Given the description of an element on the screen output the (x, y) to click on. 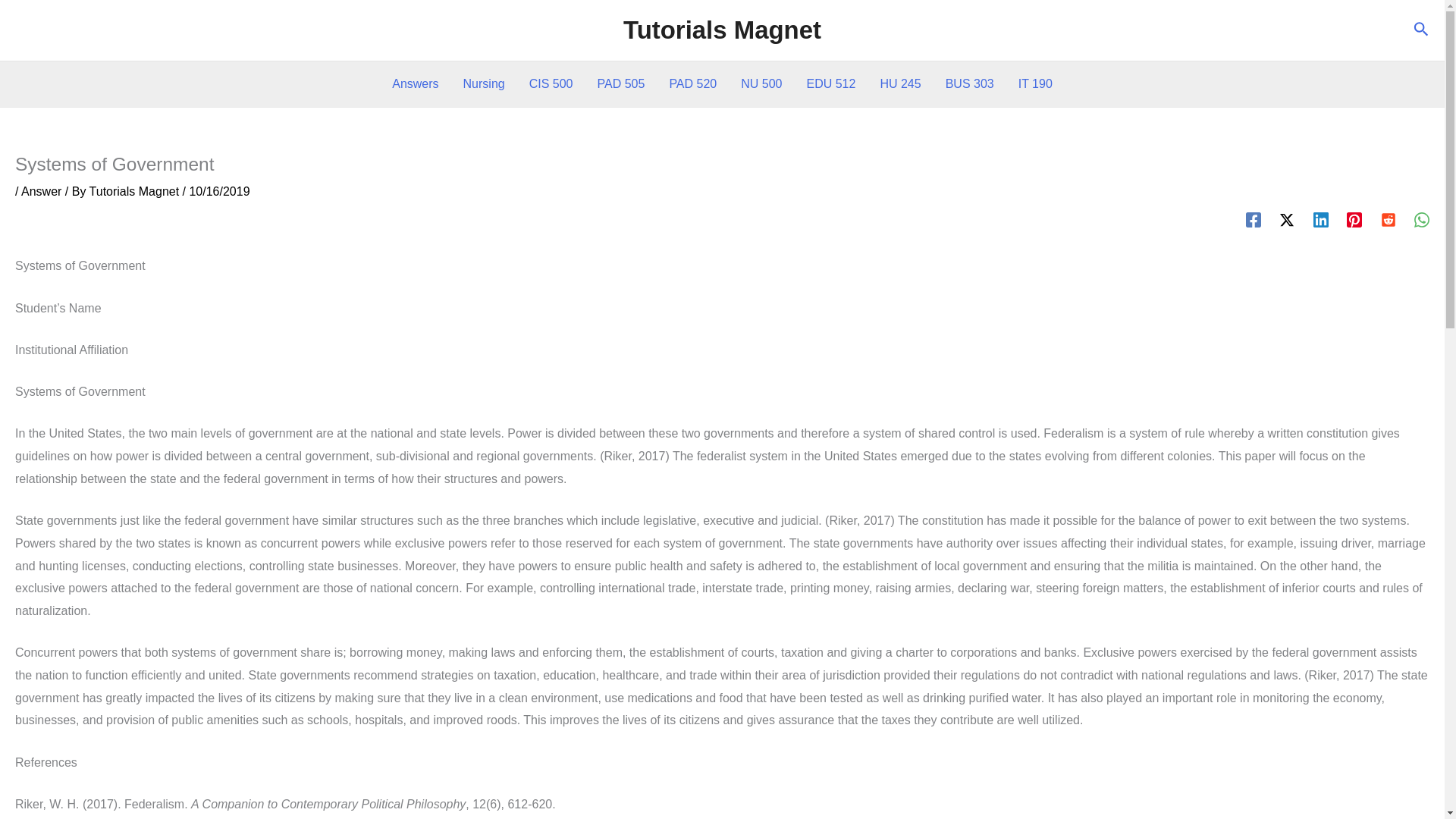
Nursing (483, 84)
Tutorials Magnet (135, 191)
PAD 505 (621, 84)
Search (1421, 30)
Answers (414, 84)
HU 245 (900, 84)
CIS 500 (550, 84)
NU 500 (761, 84)
PAD 520 (692, 84)
EDU 512 (830, 84)
IT 190 (1035, 84)
Answer (41, 191)
Tutorials Magnet (722, 29)
View all posts by Tutorials Magnet (135, 191)
BUS 303 (969, 84)
